Given the description of an element on the screen output the (x, y) to click on. 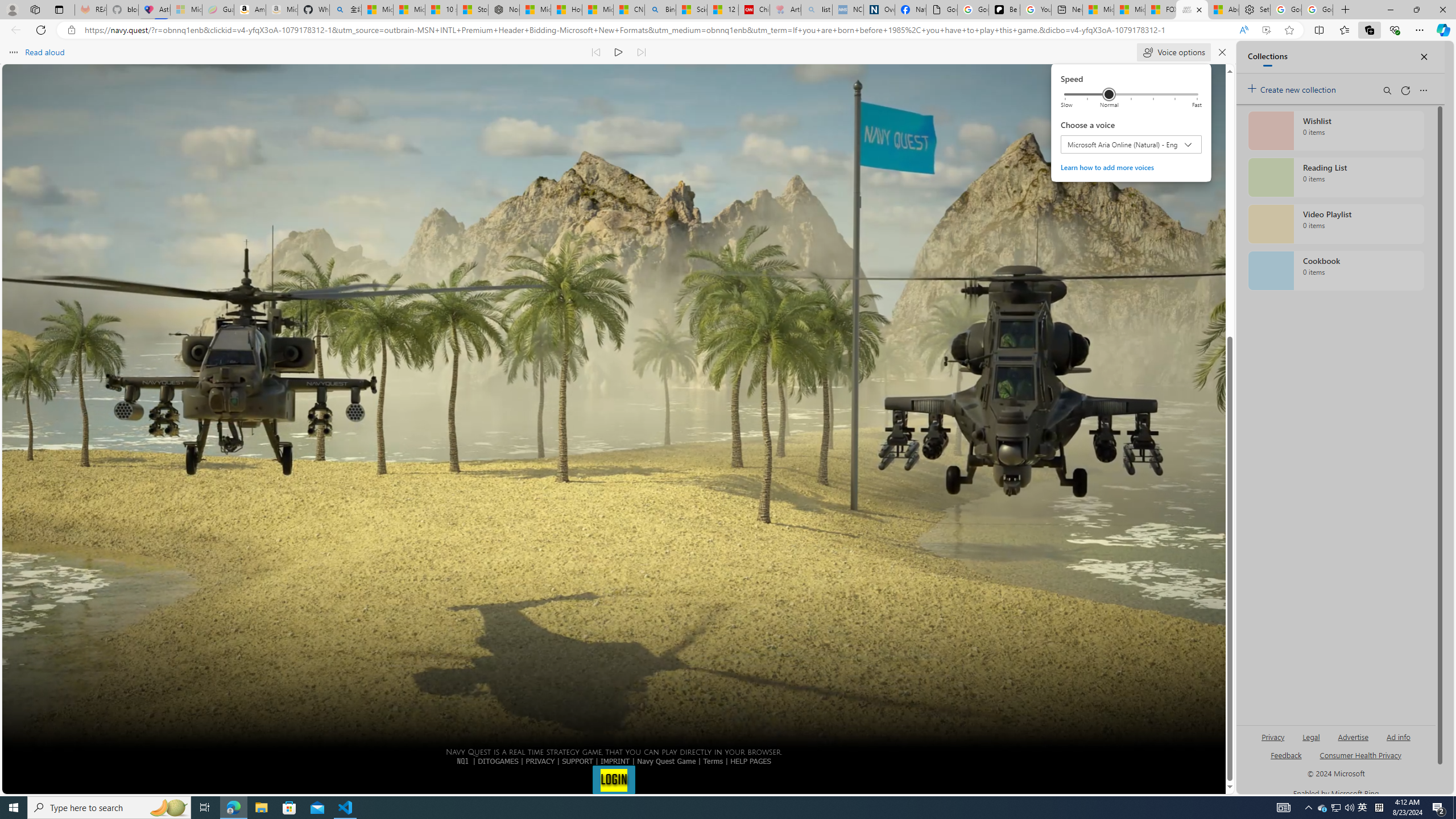
IMPRINT (614, 760)
Action Center, 2 new notifications (1439, 807)
Read next paragraph (641, 52)
Bing (660, 9)
AutomationID: genId96 (1285, 759)
File Explorer (261, 807)
Asthma Inhalers: Names and Types (153, 9)
How I Got Rid of Microsoft Edge's Unnecessary Features (566, 9)
LOGIN (613, 778)
